Given the description of an element on the screen output the (x, y) to click on. 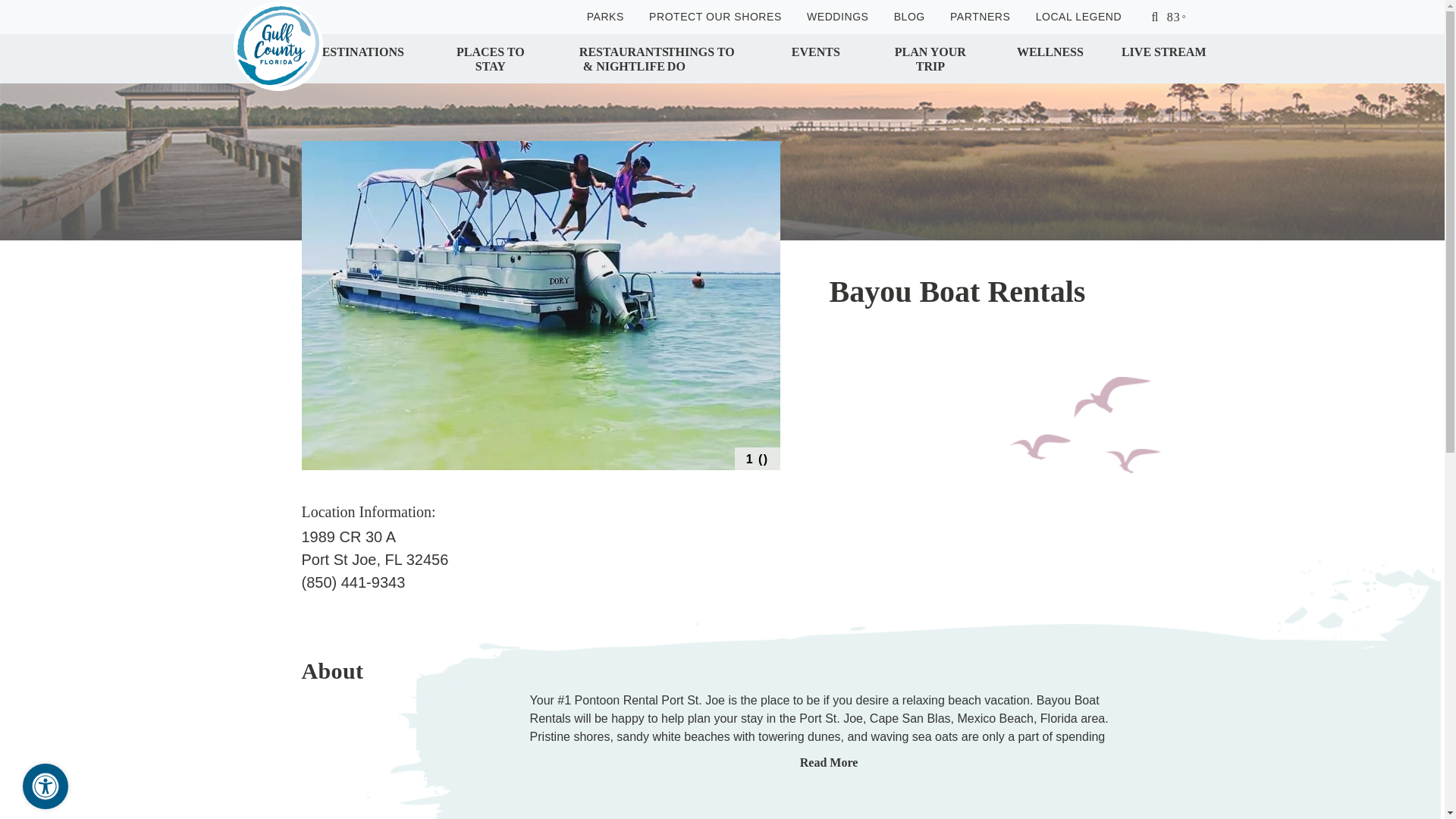
Details (339, 671)
LOCAL LEGEND (1078, 17)
PLACES TO STAY (490, 58)
BLOG (908, 17)
DESTINATIONS (358, 58)
THINGS TO DO (710, 58)
WEDDINGS (836, 17)
PROTECT OUR SHORES (715, 17)
PARTNERS (980, 17)
EVENTS (816, 58)
PARKS (605, 17)
